Given the description of an element on the screen output the (x, y) to click on. 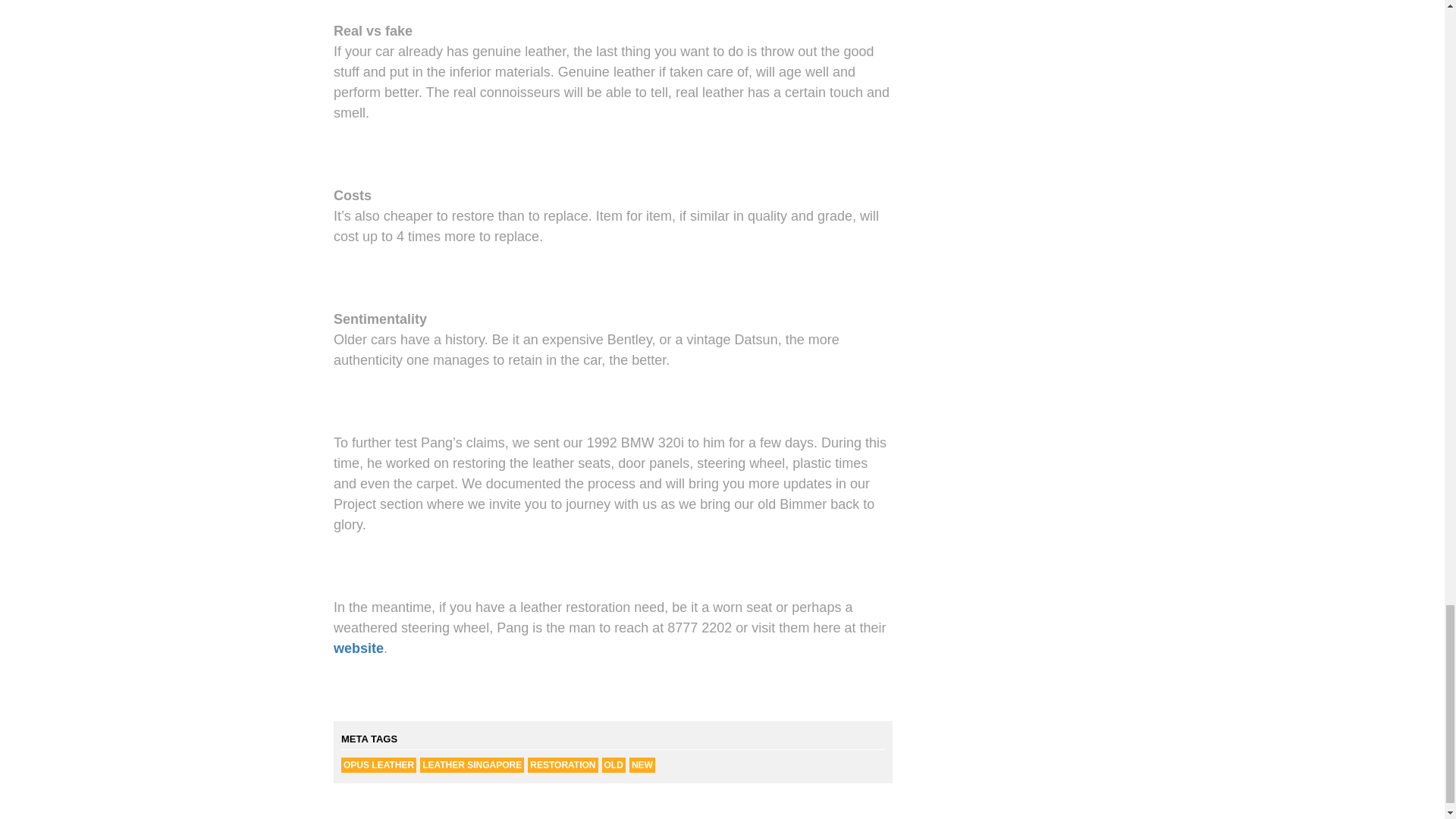
OLD (614, 765)
RESTORATION (561, 765)
website (358, 648)
OPUS LEATHER (378, 765)
NEW (641, 765)
LEATHER SINGAPORE (472, 765)
